Given the description of an element on the screen output the (x, y) to click on. 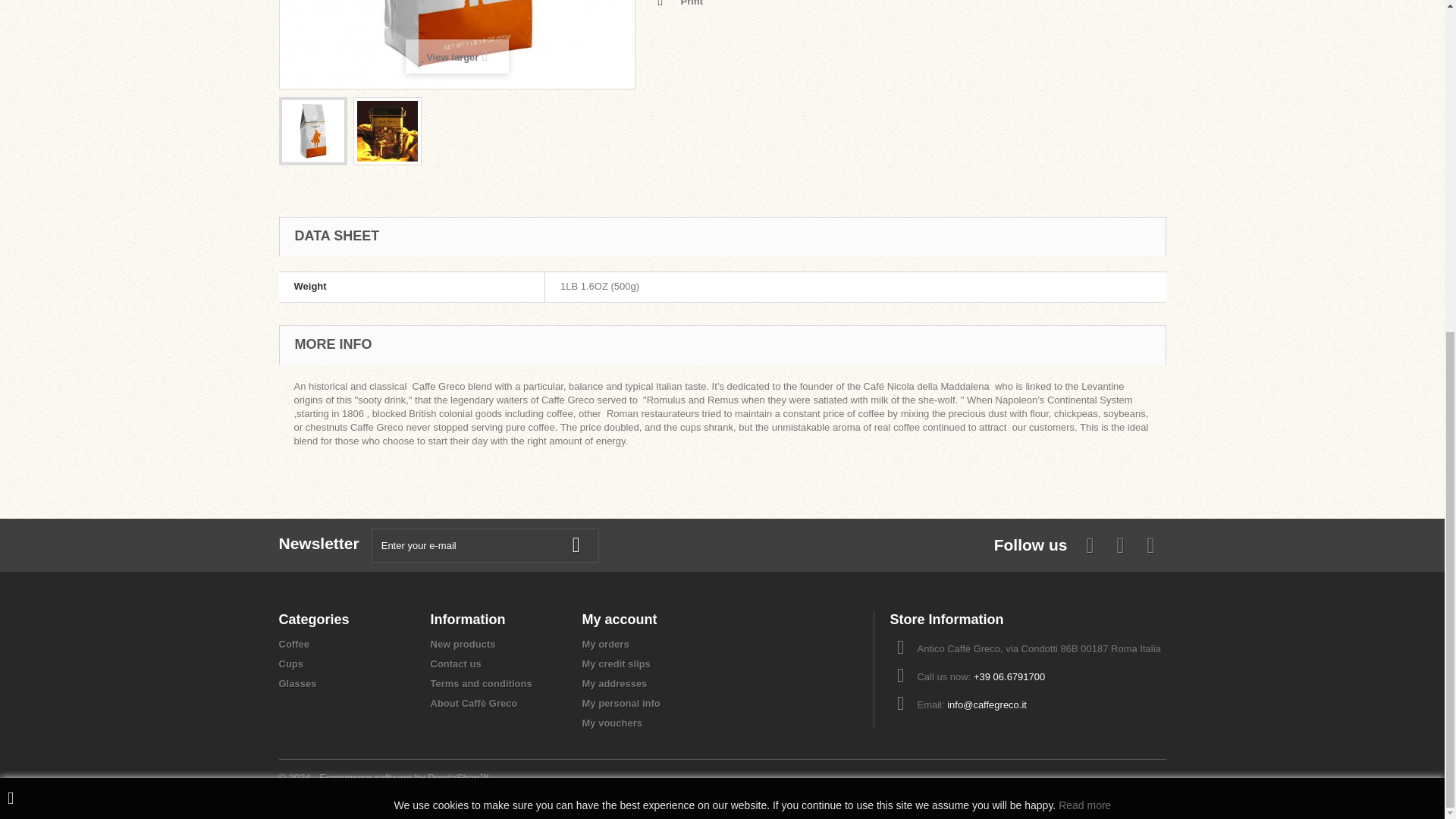
Print (680, 4)
Enter your e-mail (484, 545)
